Given the description of an element on the screen output the (x, y) to click on. 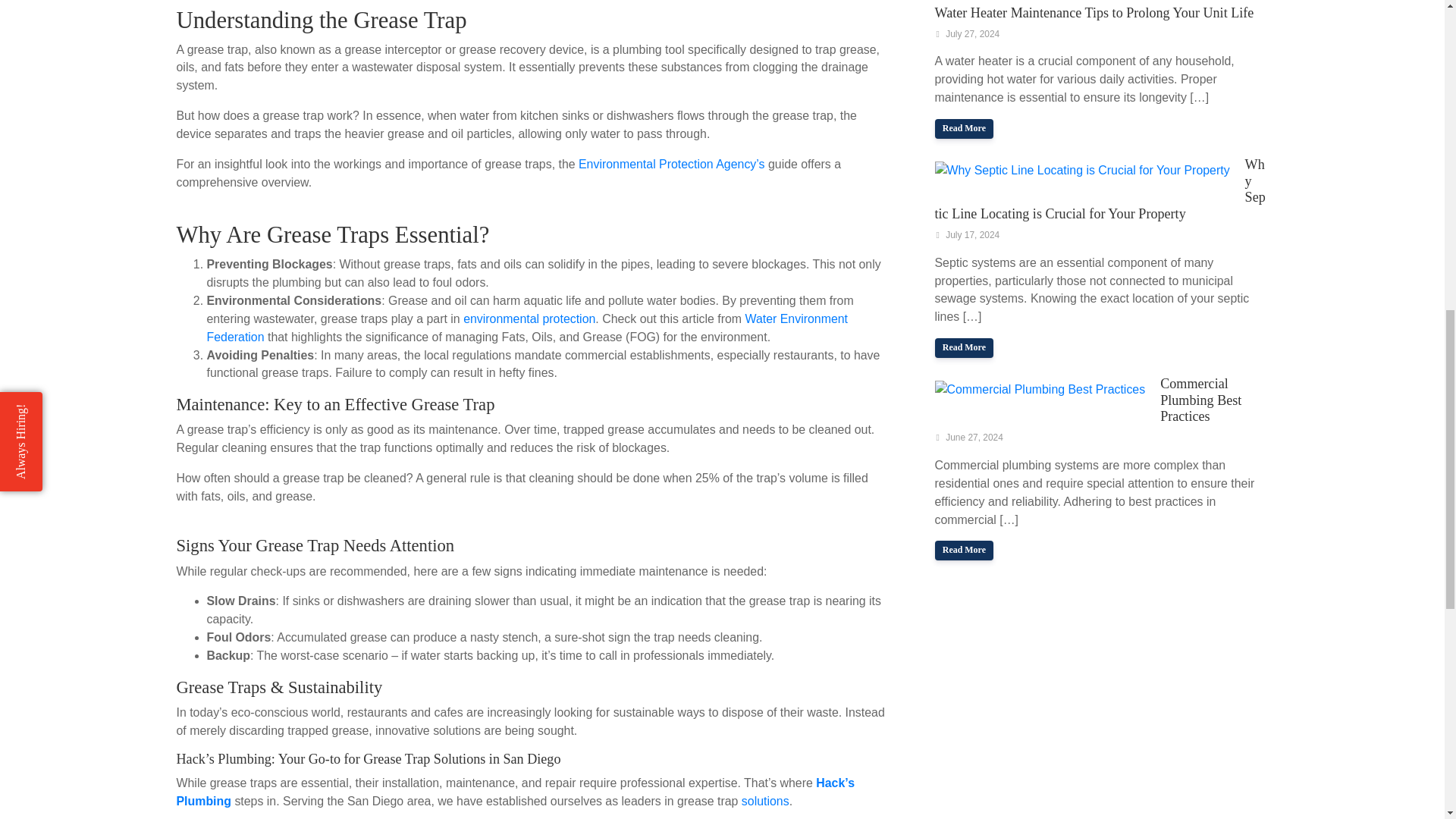
Why Septic Line Locating is Crucial for Your Property (963, 347)
solutions (765, 800)
Commercial Plumbing Best Practices (963, 550)
Why Septic Line Locating is Crucial for Your Property (1081, 169)
Water Heater Maintenance Tips to Prolong Your Unit Life (963, 128)
Why Septic Line Locating is Crucial for Your Property (1099, 189)
Water Heater Maintenance Tips to Prolong Your Unit Life (1093, 12)
environmental protection (529, 318)
Water Environment Federation (526, 327)
Commercial Plumbing Best Practices (1039, 388)
Commercial Plumbing Best Practices (1200, 400)
